Given the description of an element on the screen output the (x, y) to click on. 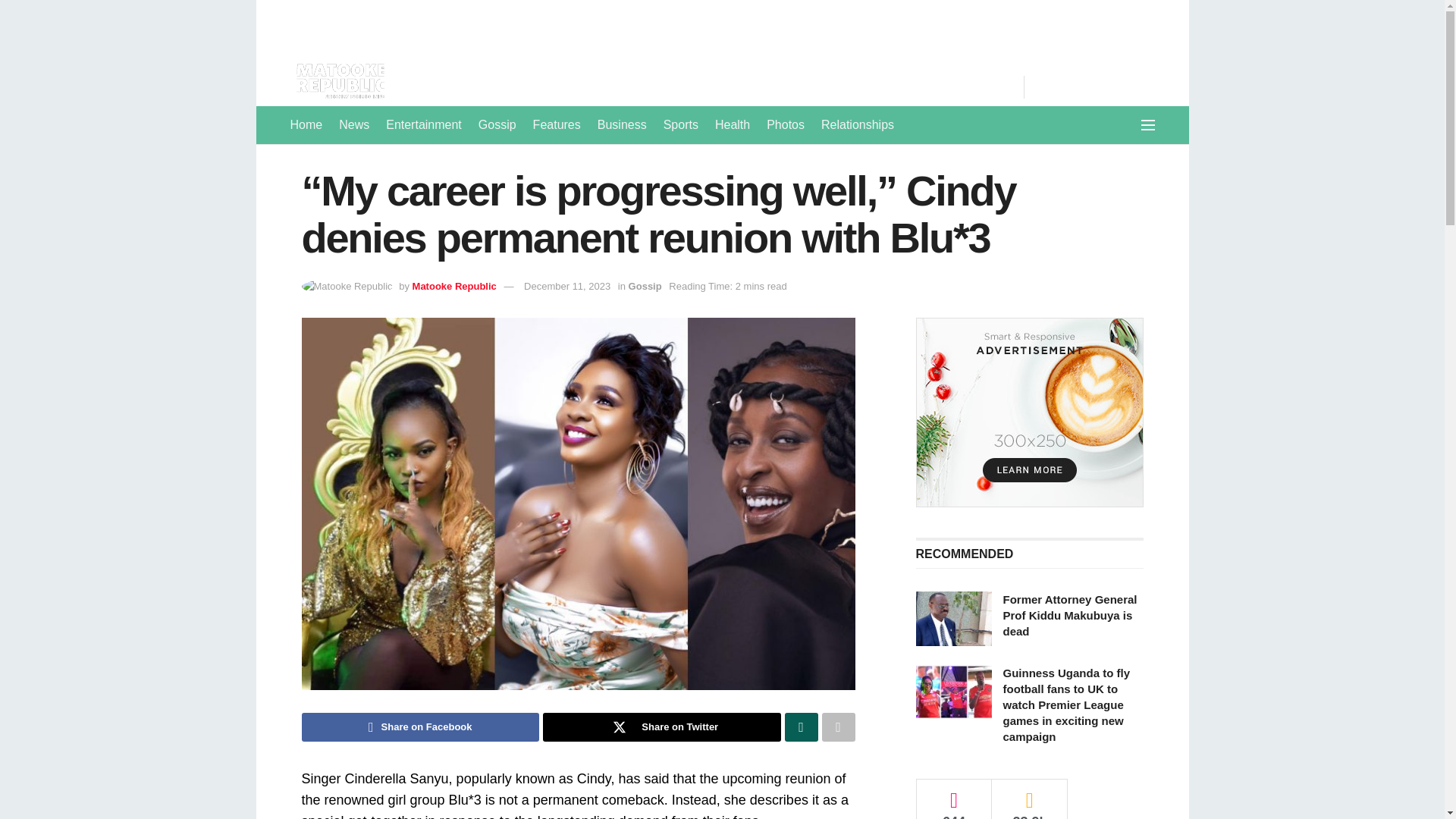
Share on Facebook (420, 727)
News (354, 124)
Features (556, 124)
Entertainment (423, 124)
Sports (680, 124)
December 11, 2023 (567, 285)
Home (305, 124)
Business (621, 124)
Share on Twitter (661, 727)
Relationships (857, 124)
